Given the description of an element on the screen output the (x, y) to click on. 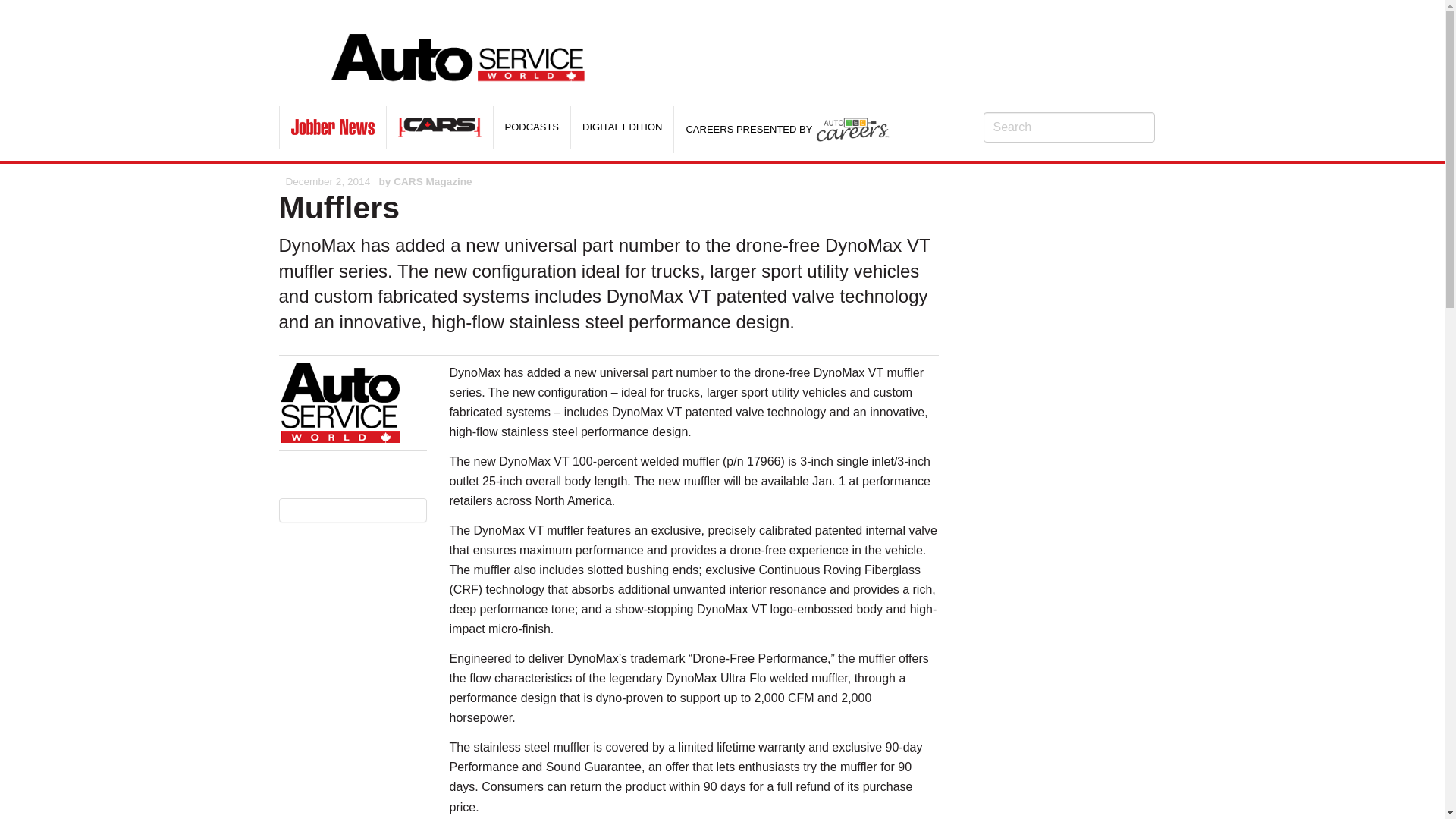
CAREERS PRESENTED BY (786, 129)
PODCASTS (531, 127)
DIGITAL EDITION (621, 127)
Auto Service World (459, 50)
Click to show site navigation (304, 54)
